Given the description of an element on the screen output the (x, y) to click on. 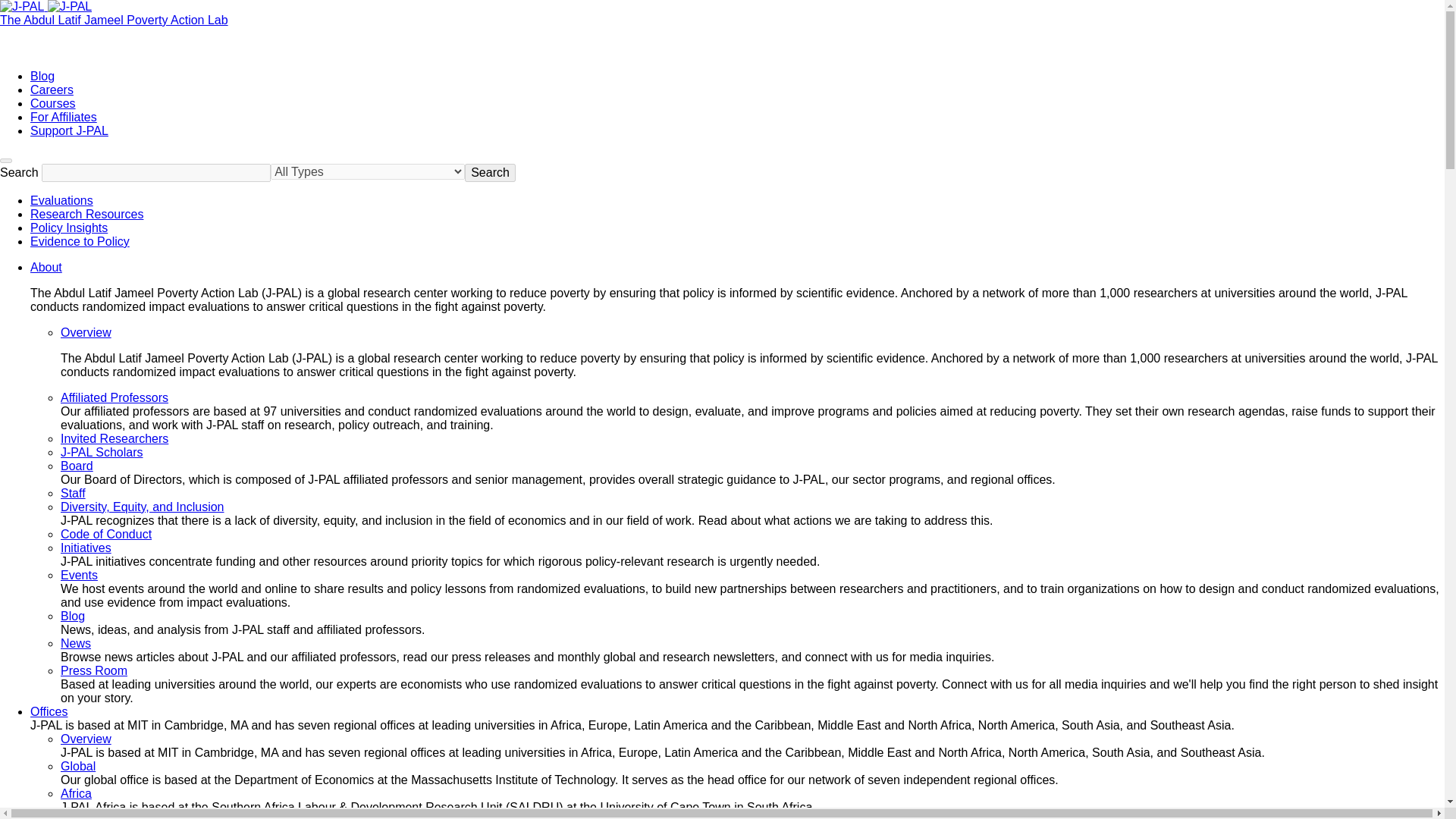
Invited Researchers (114, 438)
Search (489, 172)
Home (114, 19)
The Abdul Latif Jameel Poverty Action Lab (114, 19)
Code of Conduct for the J-PAL Community (106, 533)
J-PAL (45, 6)
